Given the description of an element on the screen output the (x, y) to click on. 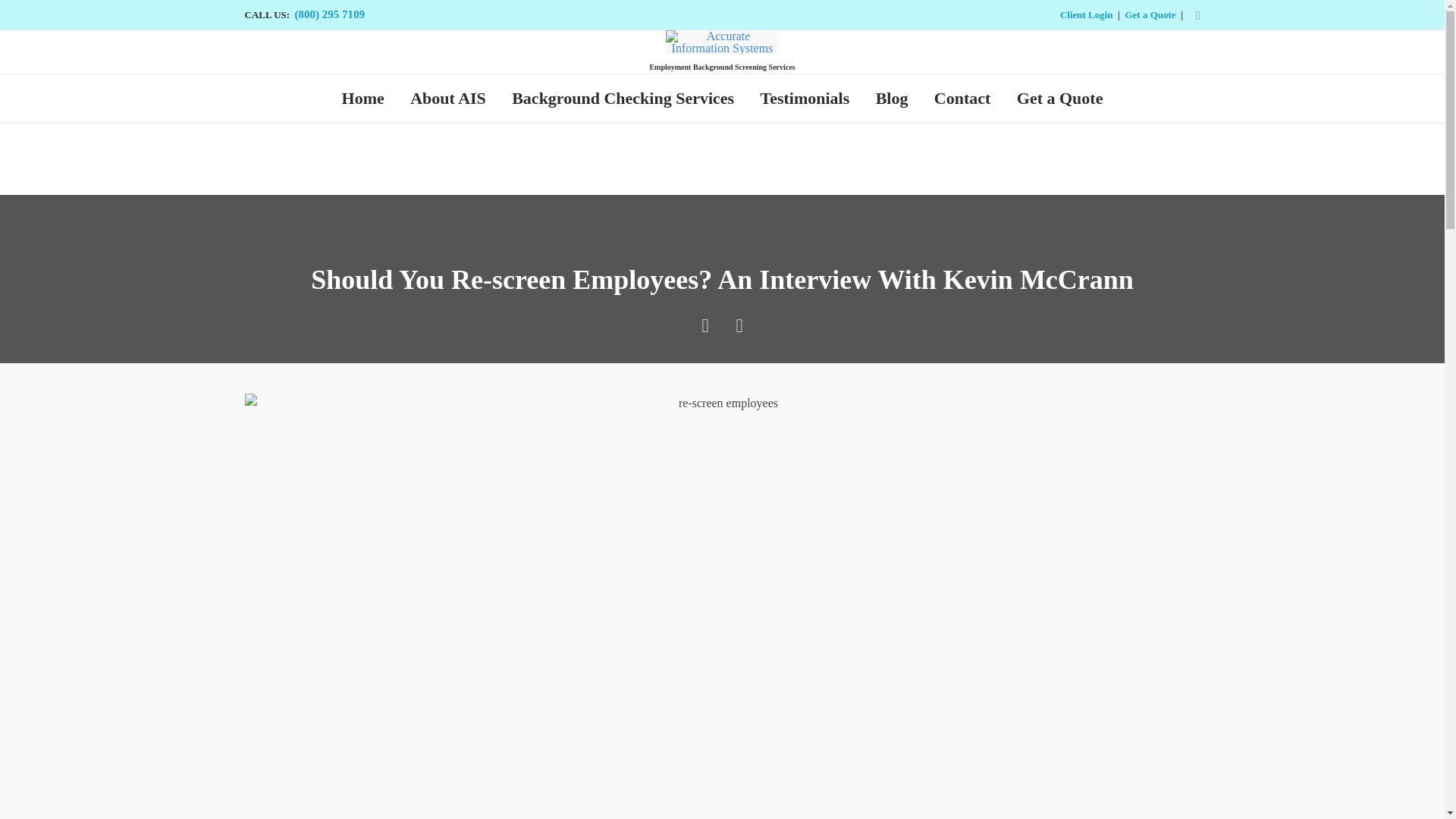
Client Login (1086, 14)
Blog (890, 97)
Contact (962, 97)
Background Checking Services (623, 97)
Get a Quote (1060, 97)
Testimonials (804, 97)
About AIS (448, 97)
Get a Quote (1149, 14)
Home (362, 97)
